Given the description of an element on the screen output the (x, y) to click on. 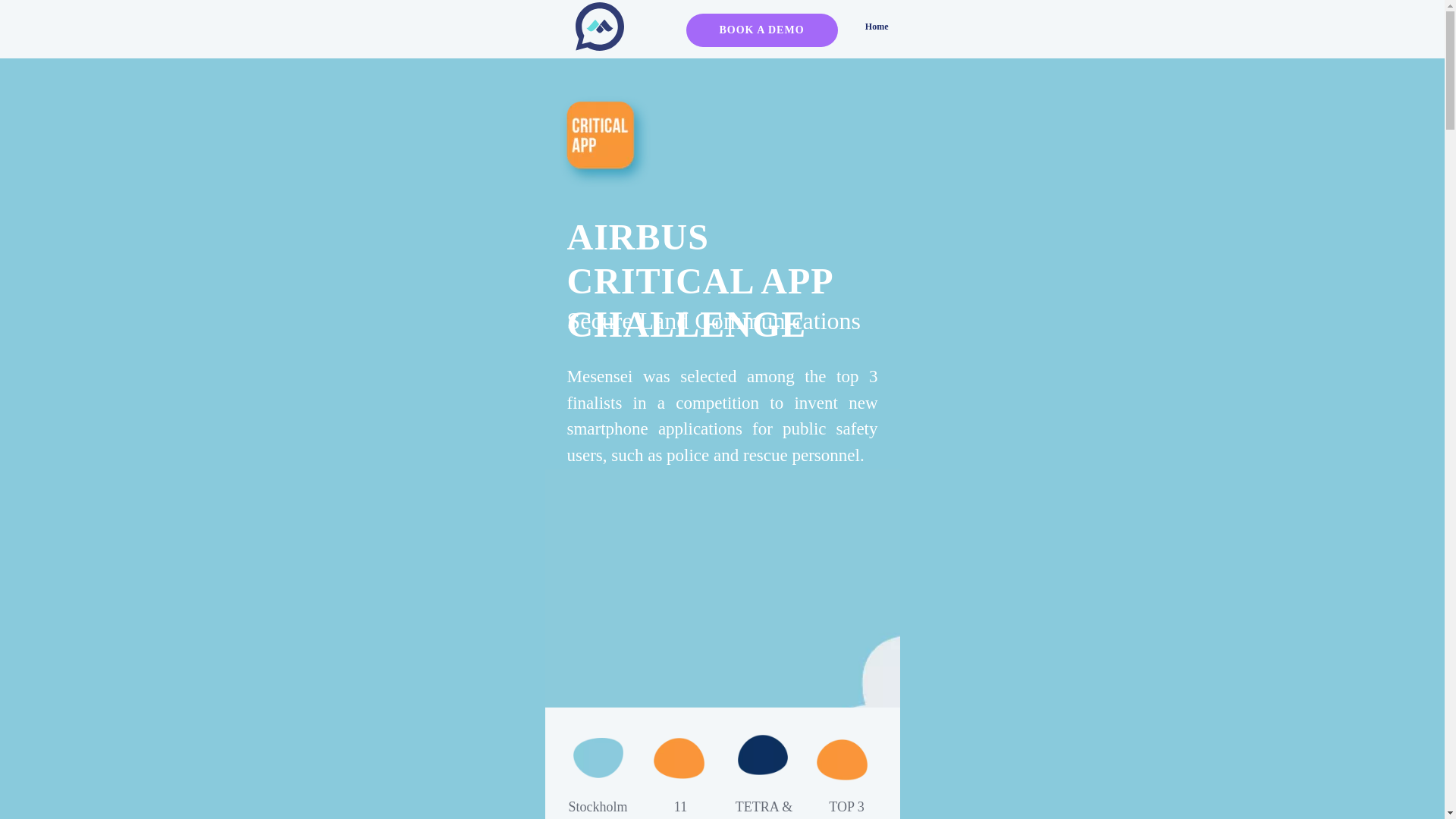
Home (877, 26)
BOOK A DEMO (761, 29)
